Given the description of an element on the screen output the (x, y) to click on. 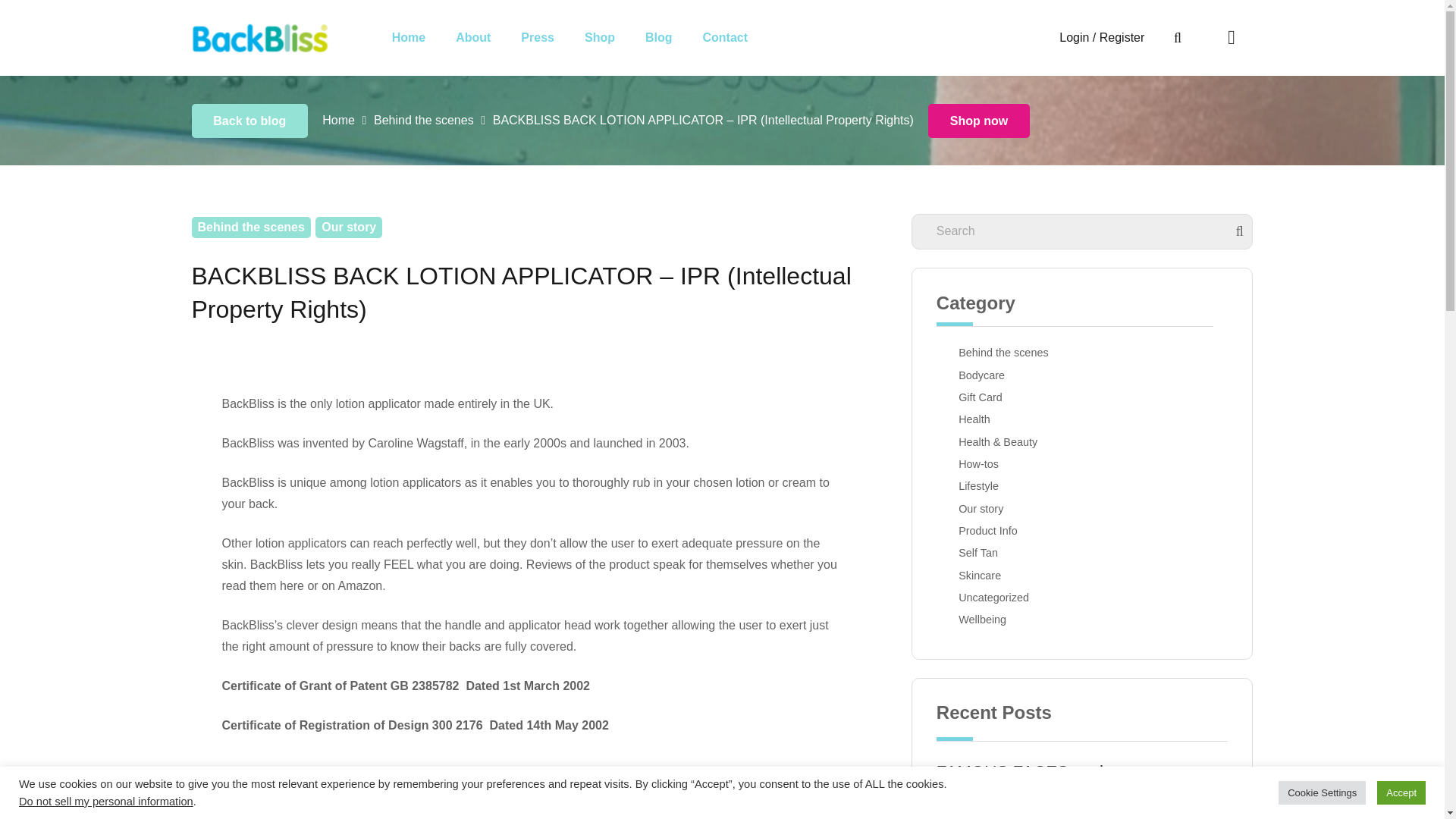
health (943, 418)
Gift Card (1082, 398)
Health (1082, 420)
Product Info (1082, 532)
how-tos (943, 462)
skincare (943, 574)
behind-the-scenes (943, 350)
Our story (1082, 510)
How-tos (1082, 465)
Skincare (1082, 577)
our-story (943, 507)
Lifestyle (1082, 487)
uncategorized (943, 595)
bodycare (943, 373)
Self Tan (1082, 554)
